Given the description of an element on the screen output the (x, y) to click on. 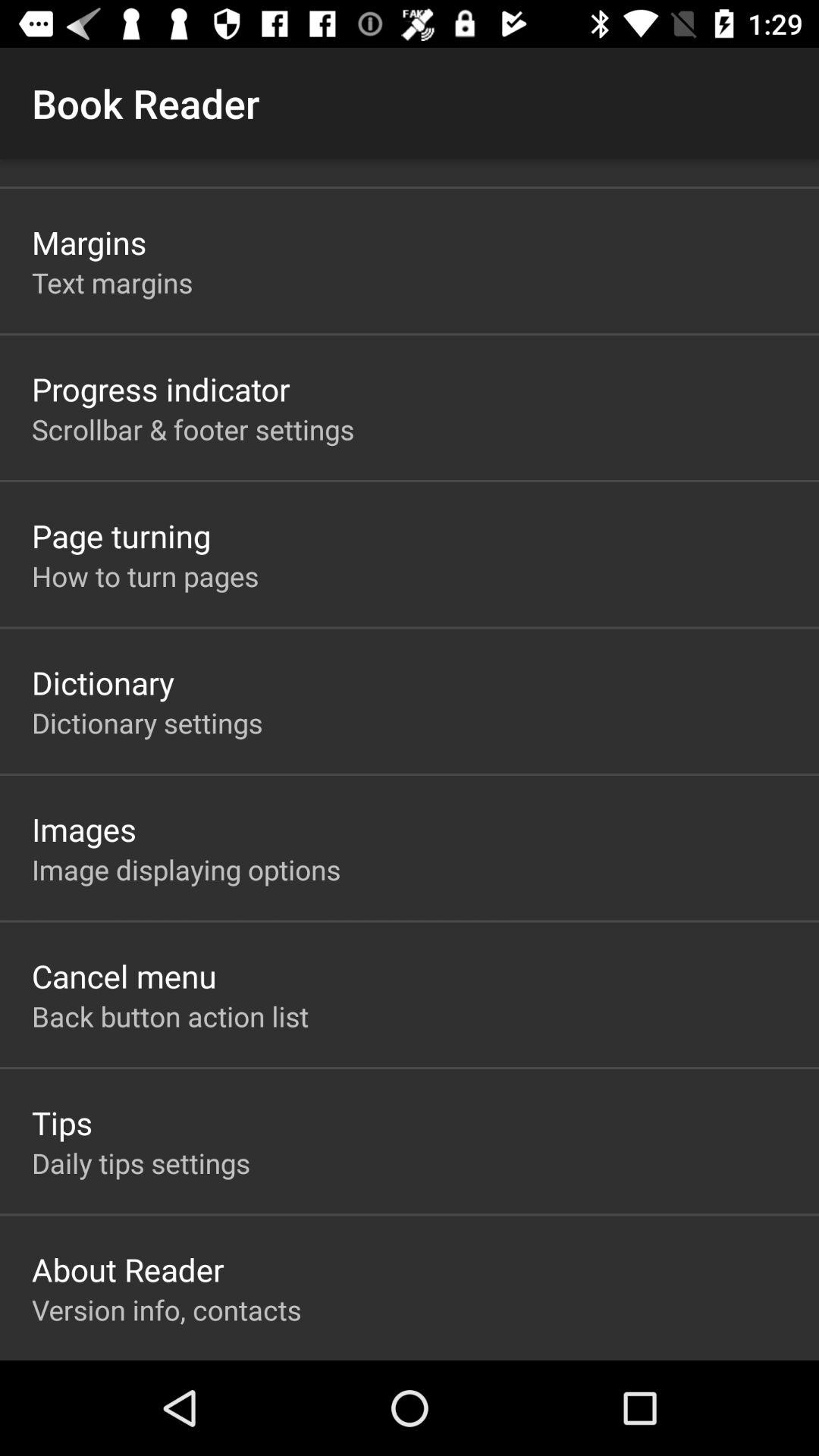
click the item above the tips item (169, 1016)
